Given the description of an element on the screen output the (x, y) to click on. 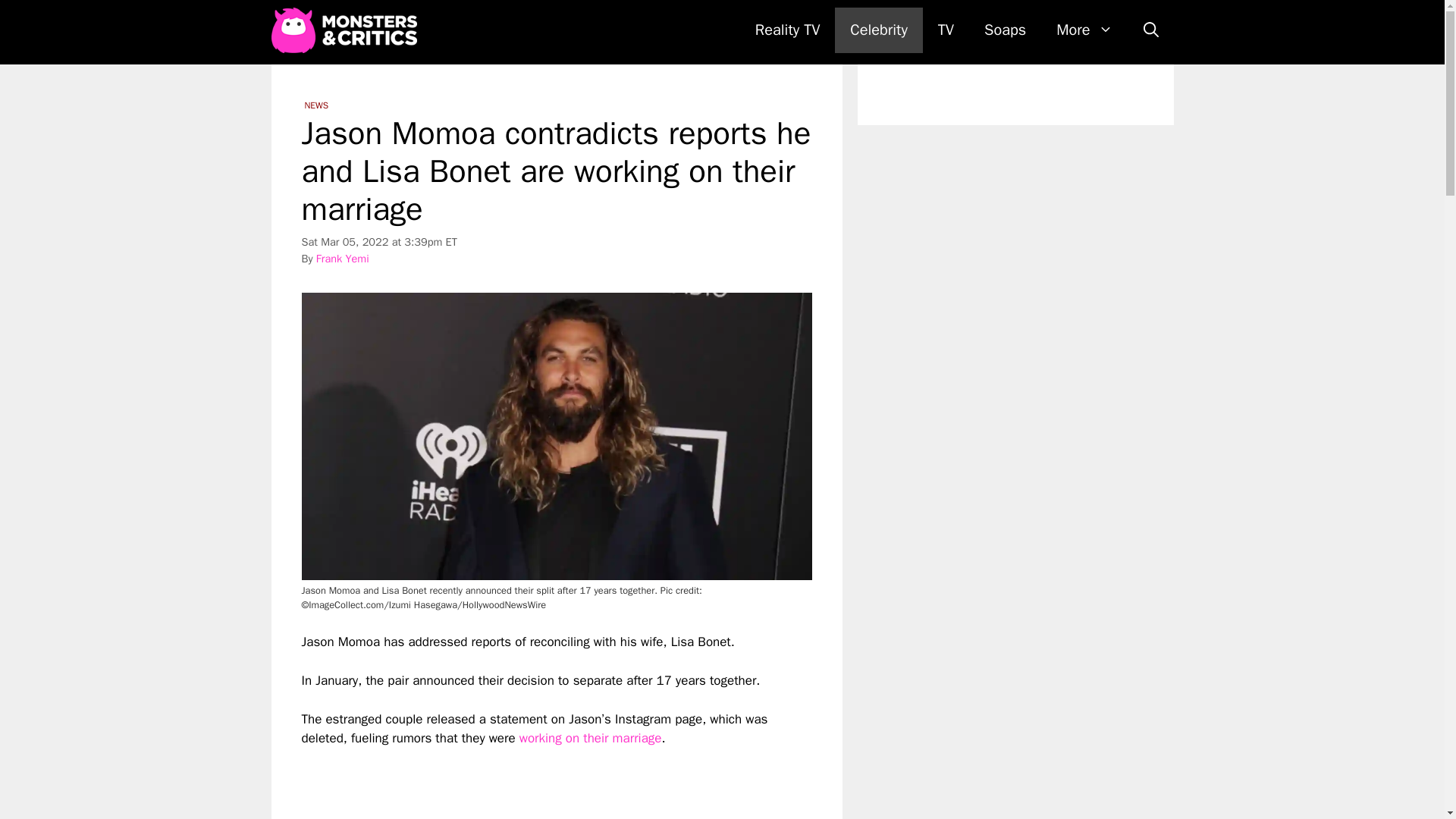
More (1083, 30)
working on their marriage (590, 738)
Soaps (1005, 30)
Monsters and Critics (347, 30)
TV (946, 30)
Celebrity (877, 30)
Frank Yemi (342, 258)
Monsters and Critics (343, 30)
YouTube video player (513, 783)
Reality TV (787, 30)
